Given the description of an element on the screen output the (x, y) to click on. 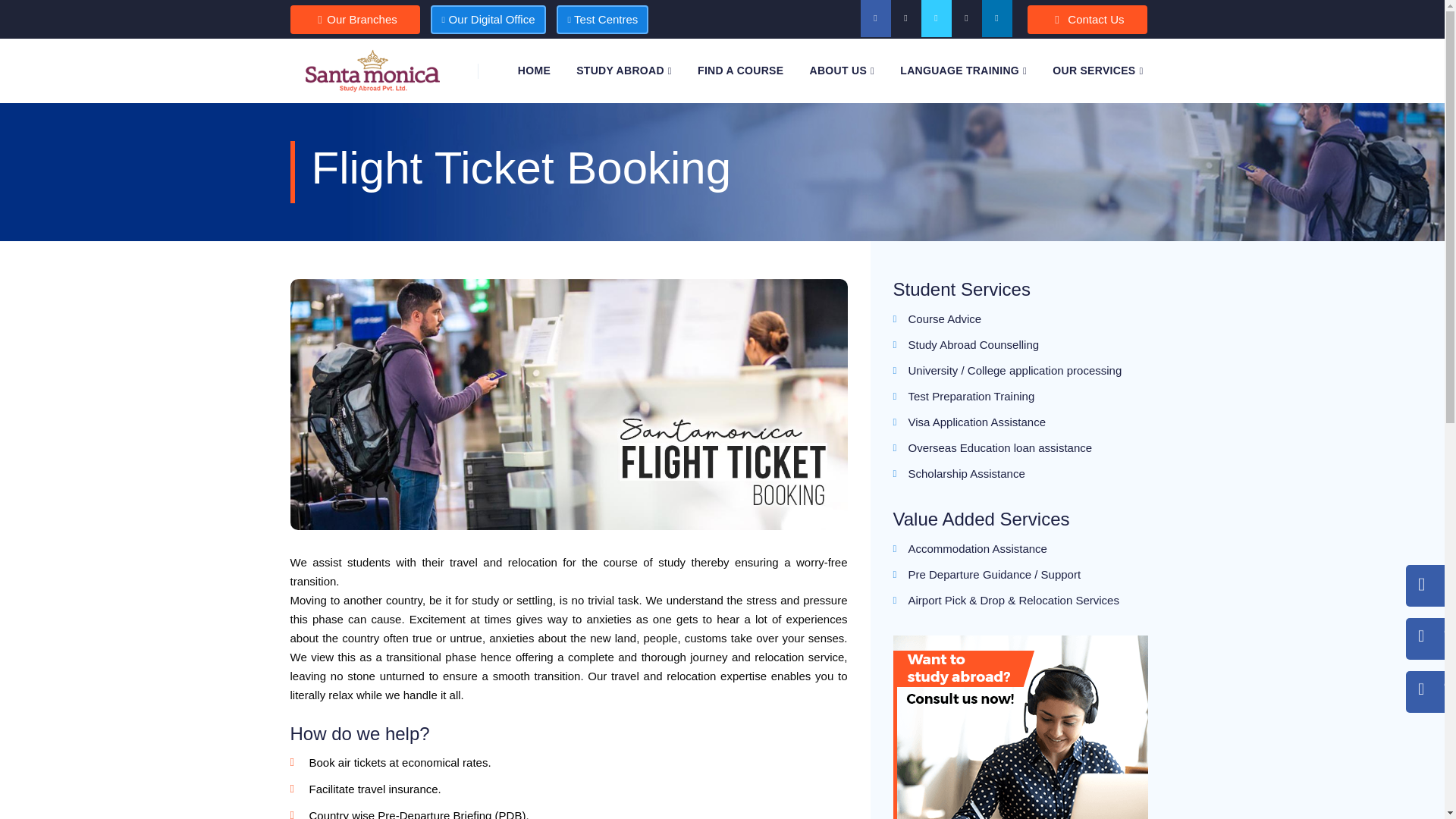
Santamonica (371, 70)
Our Branches (354, 19)
ABOUT US (841, 70)
Contact Us (1087, 19)
Test Centres (602, 19)
Our Digital Office (488, 19)
FIND A COURSE (739, 70)
STUDY ABROAD (623, 70)
